Given the description of an element on the screen output the (x, y) to click on. 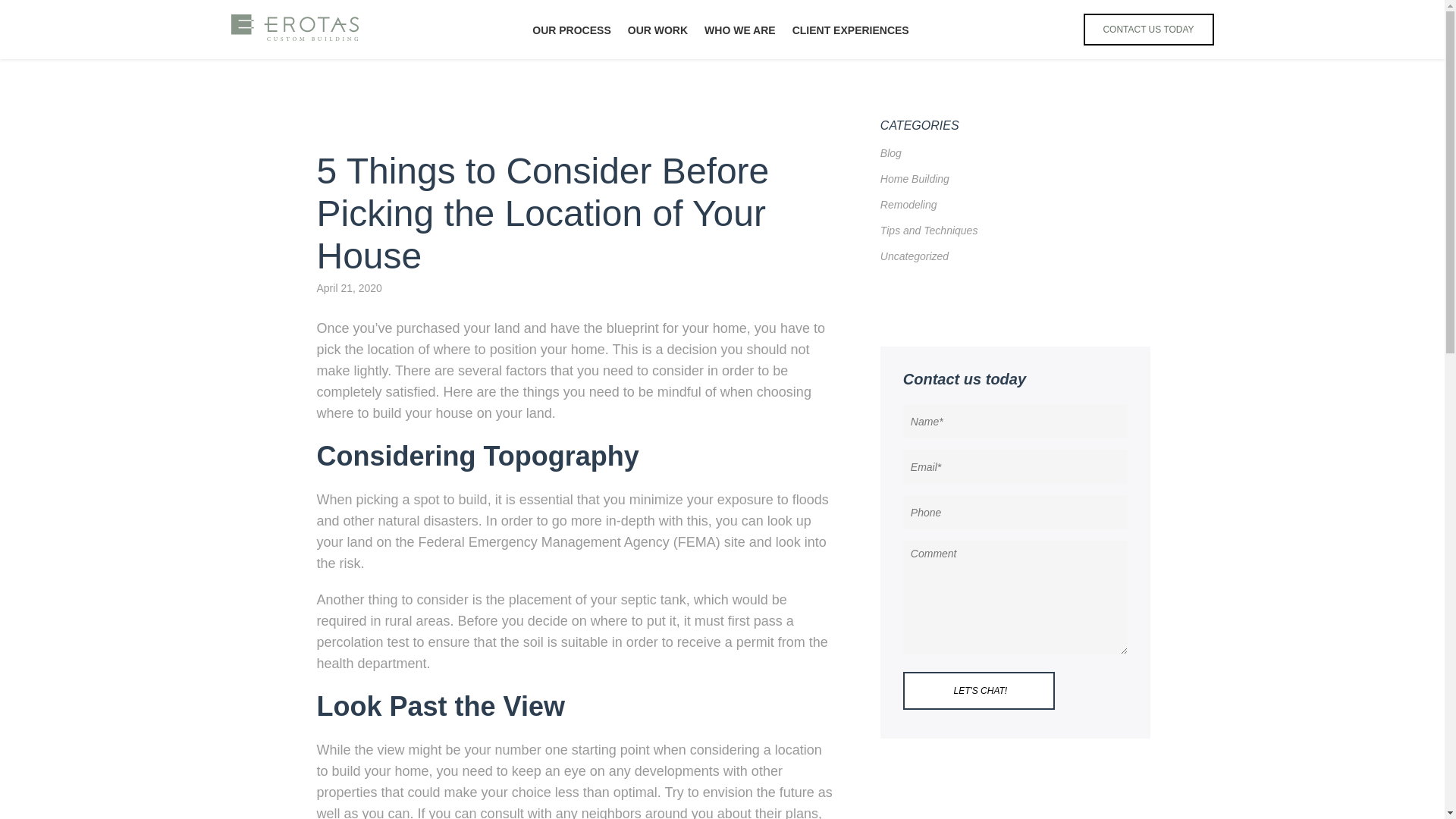
Uncategorized (914, 256)
Home Building (914, 178)
Tips and Techniques (929, 230)
CONTACT US TODAY (1147, 29)
CLIENT EXPERIENCES (850, 30)
WHO WE ARE (740, 30)
Let's Chat! (980, 690)
Remodeling (908, 204)
OUR PROCESS (571, 30)
Let's Chat! (980, 690)
Blog (890, 152)
OUR WORK (657, 30)
